Given the description of an element on the screen output the (x, y) to click on. 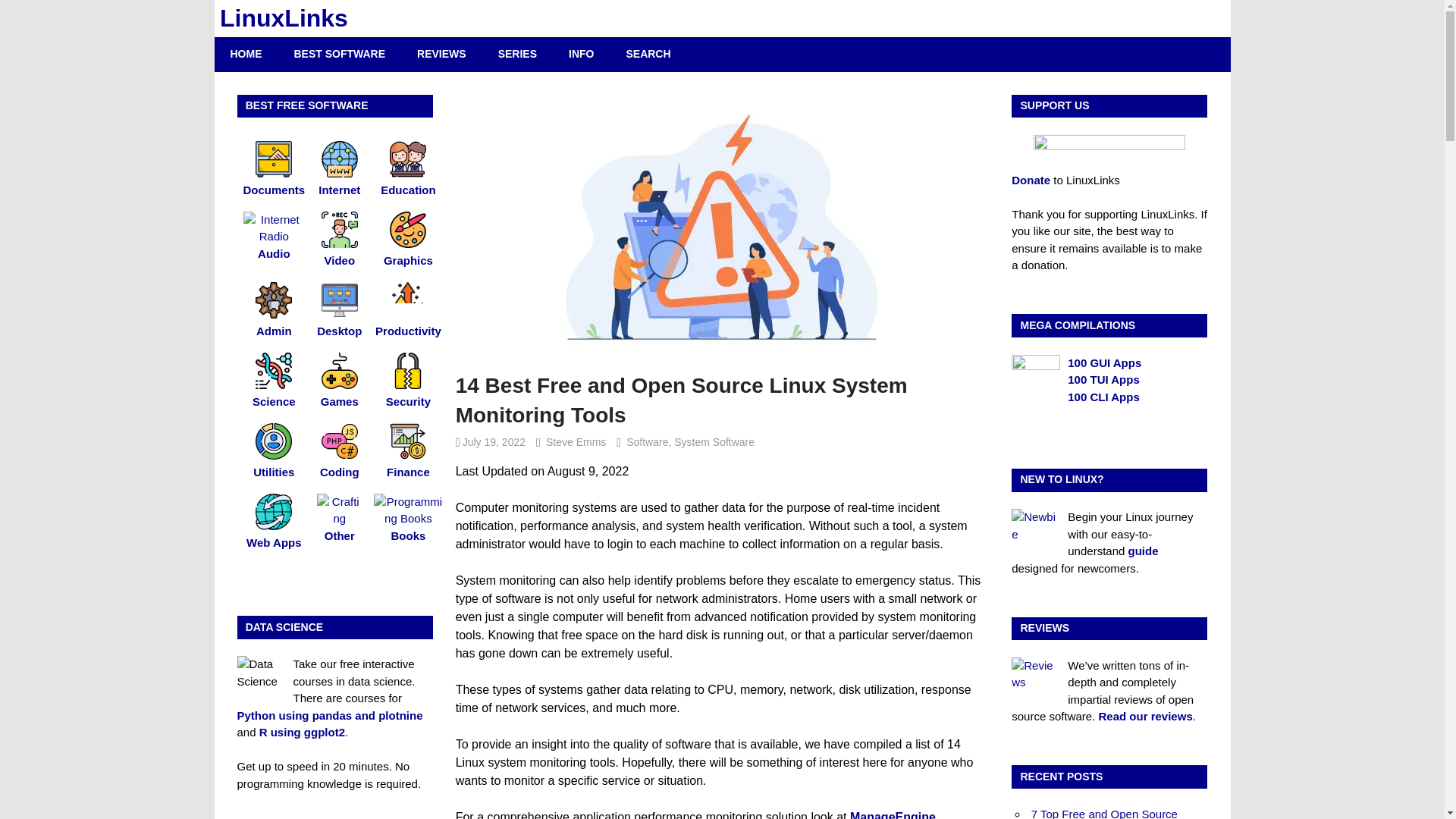
SERIES (517, 53)
INFO (581, 53)
SEARCH (647, 53)
Steve Emms (575, 441)
System Software (714, 441)
July 19, 2022 (494, 441)
HOME (246, 53)
Software (647, 441)
ManageEngine Applications Manager (695, 814)
REVIEWS (441, 53)
